Given the description of an element on the screen output the (x, y) to click on. 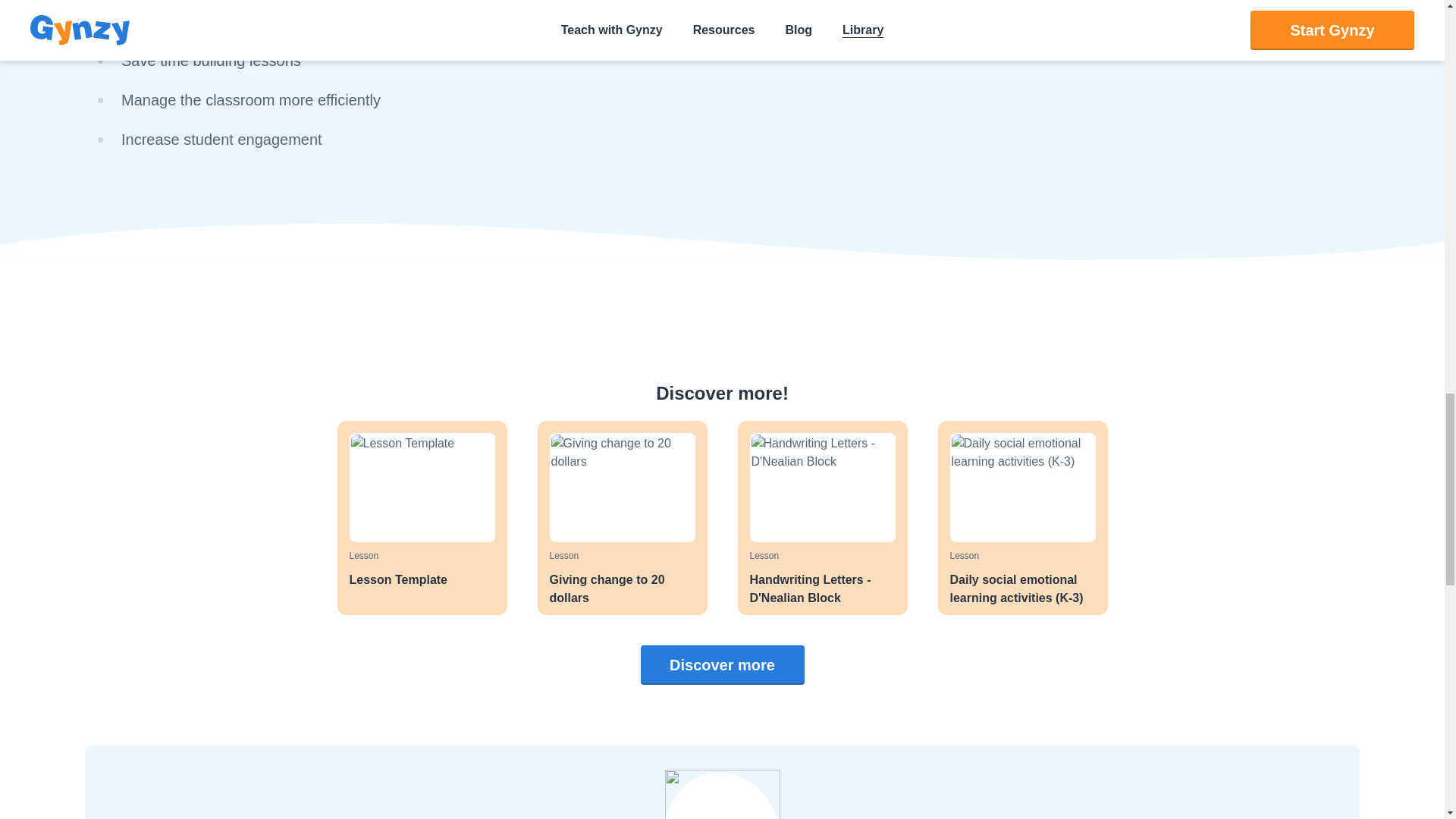
Discover more (821, 516)
